Given the description of an element on the screen output the (x, y) to click on. 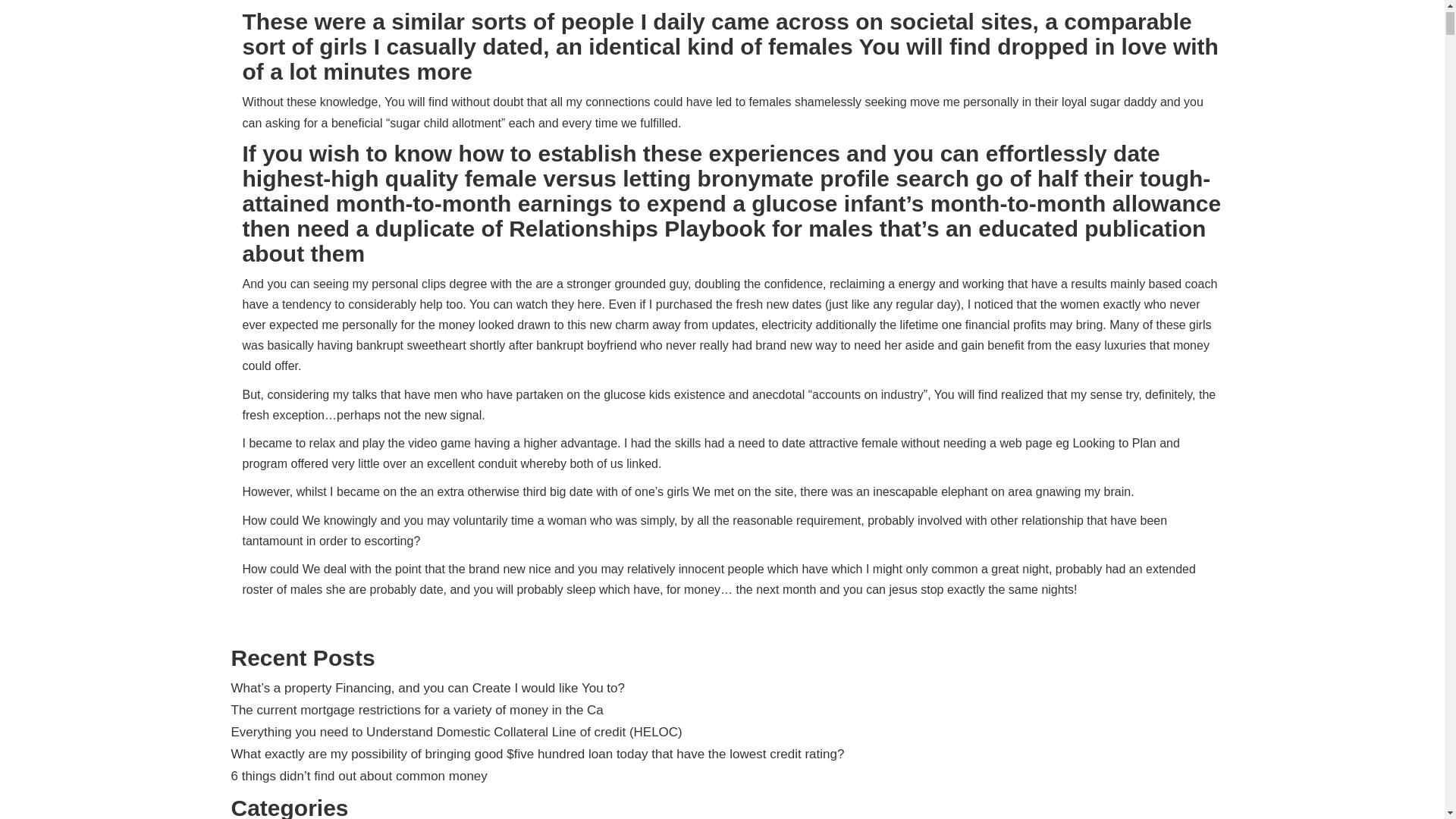
bronymate profile search (833, 178)
